Given the description of an element on the screen output the (x, y) to click on. 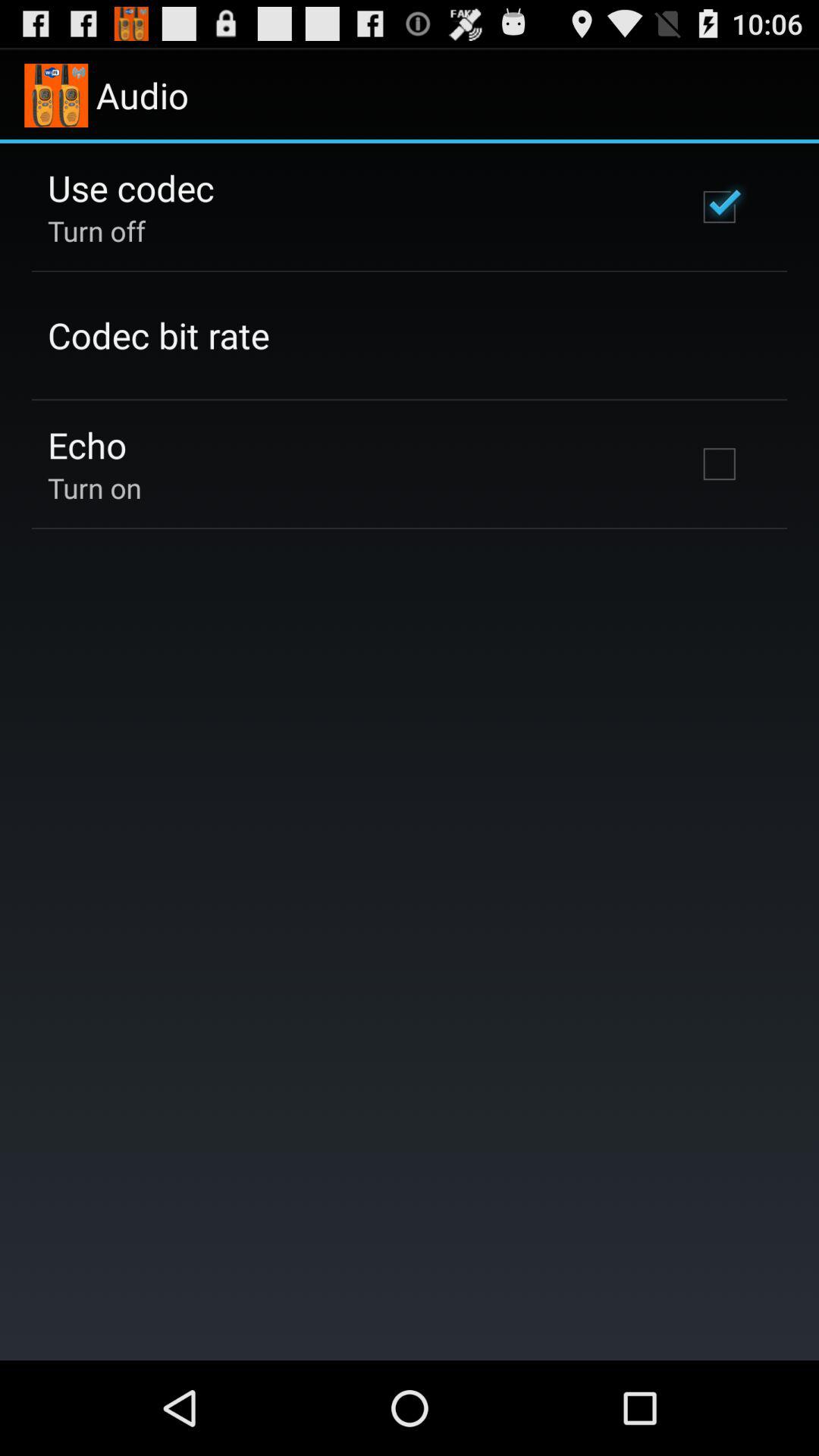
jump to the echo icon (86, 444)
